Given the description of an element on the screen output the (x, y) to click on. 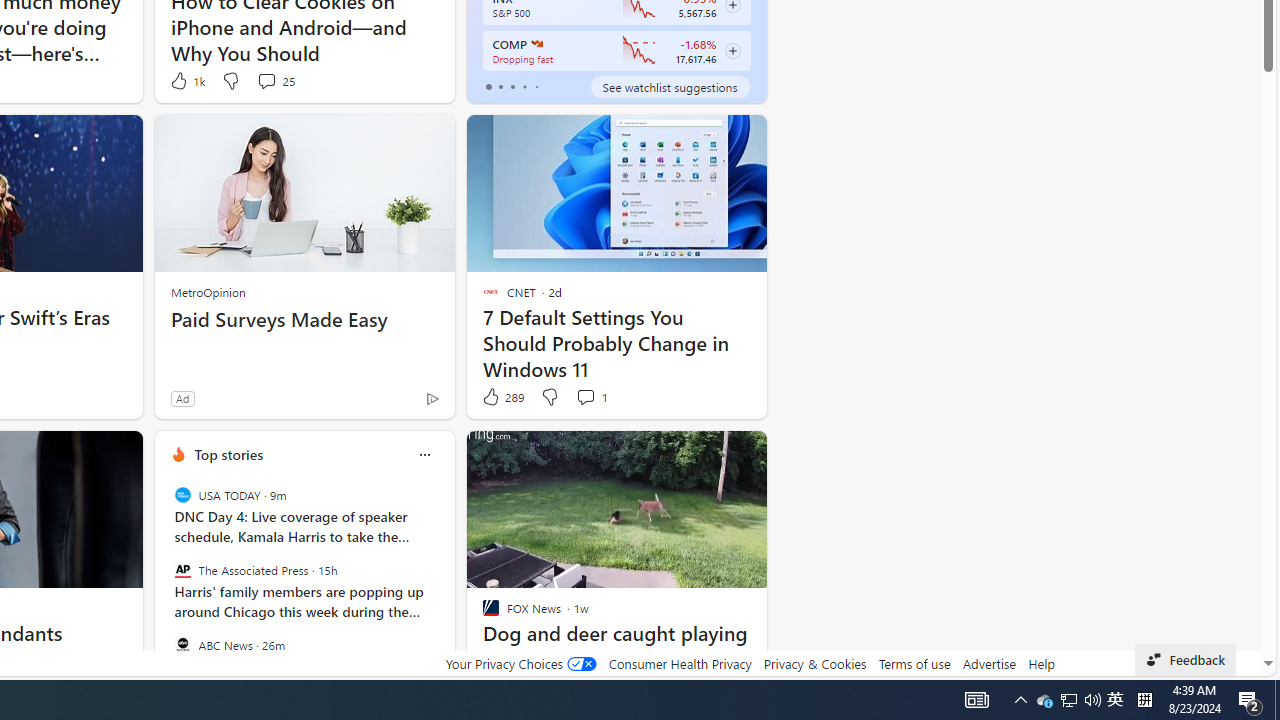
tab-3 (524, 86)
Hide this story (491, 454)
USA TODAY (182, 494)
previous (164, 583)
Top stories (228, 454)
289 Like (502, 397)
NASDAQ (535, 43)
tab-2 (511, 86)
tab-4 (535, 86)
